Given the description of an element on the screen output the (x, y) to click on. 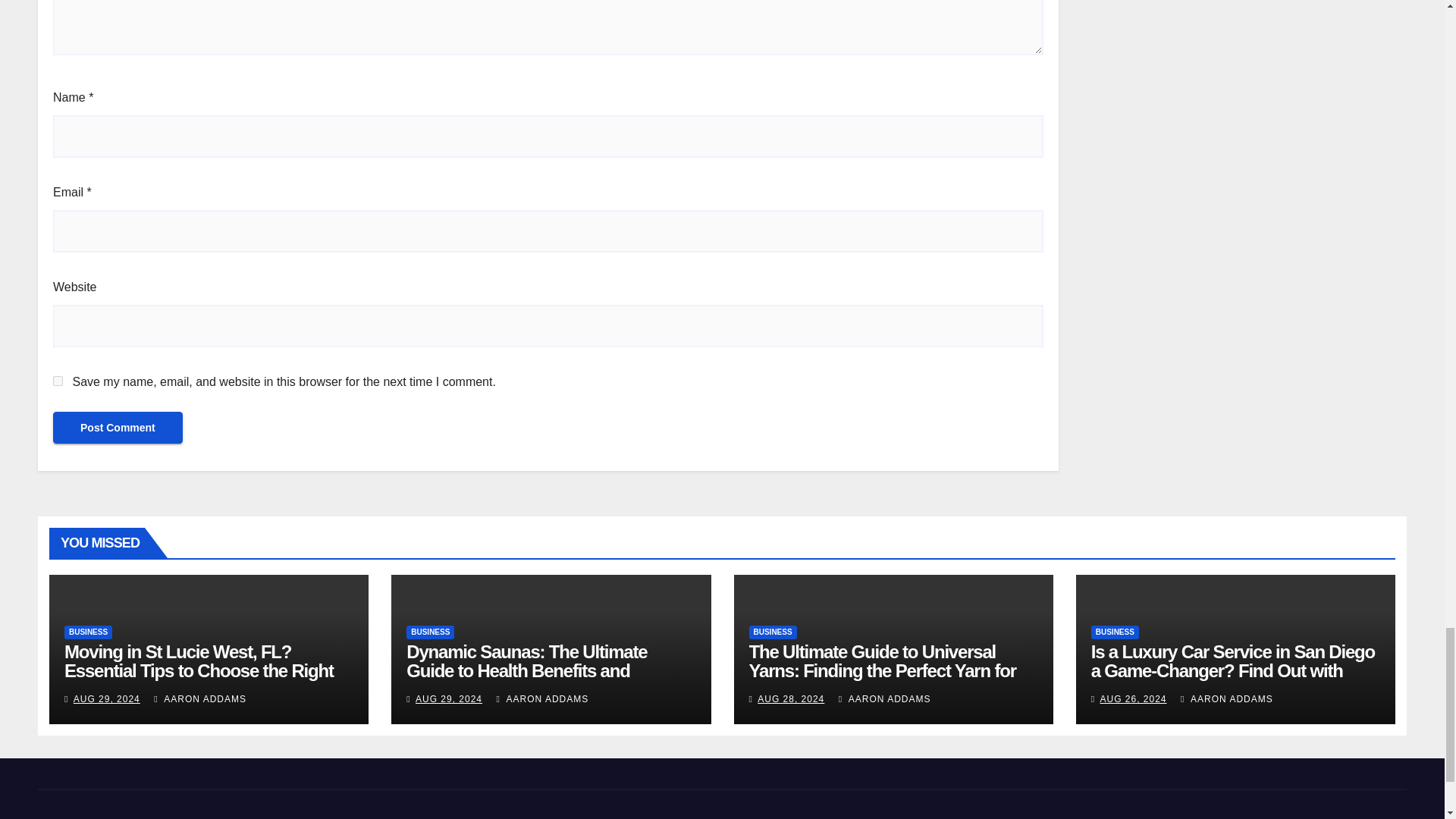
yes (57, 380)
Post Comment (117, 427)
